Given the description of an element on the screen output the (x, y) to click on. 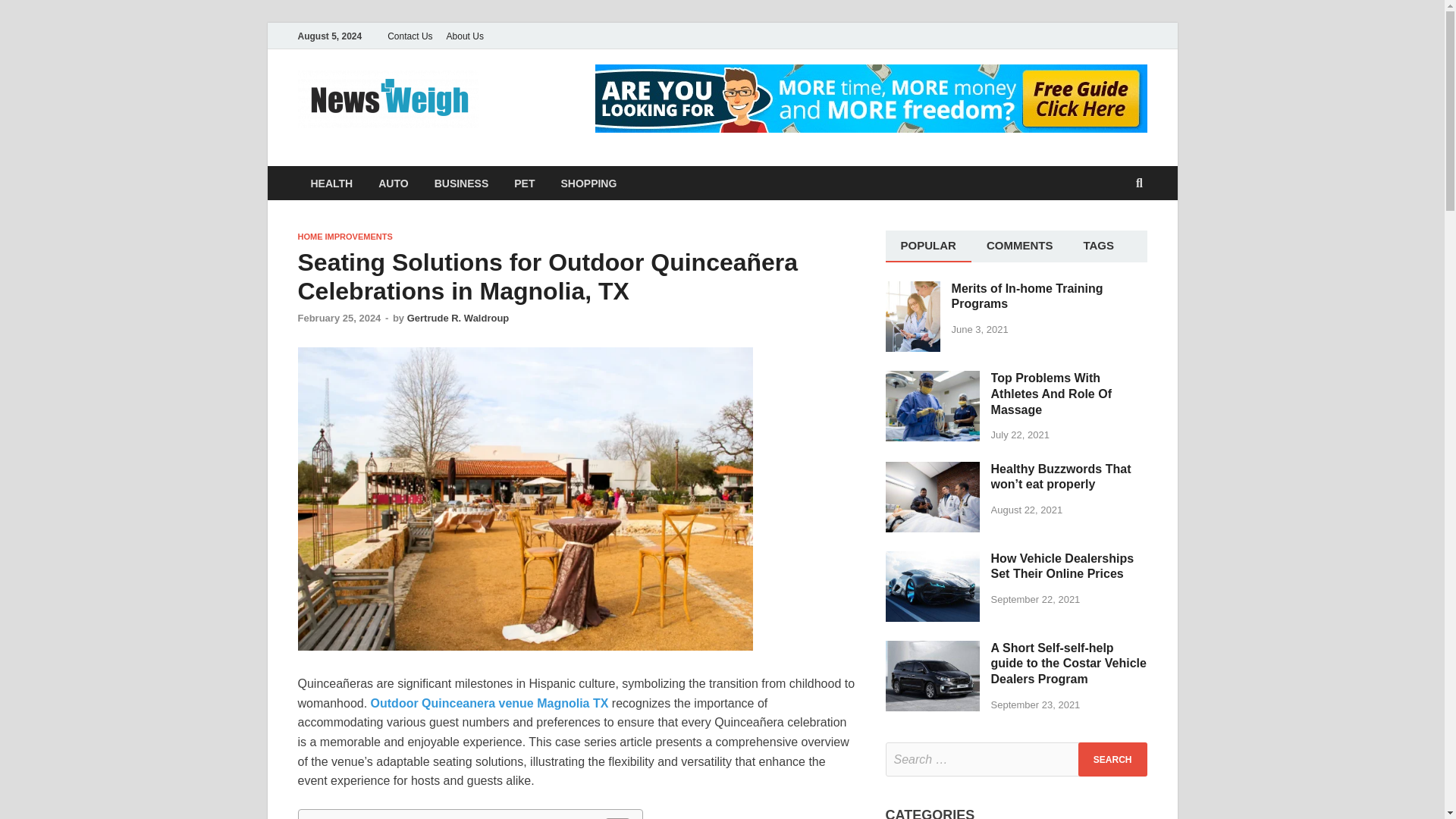
About Us (464, 35)
Outdoor Quinceanera venue Magnolia TX (489, 703)
SHOPPING (587, 182)
HOME IMPROVEMENTS (344, 235)
Gertrude R. Waldroup (458, 317)
Contact Us (409, 35)
Search (1112, 759)
AUTO (392, 182)
Search (1112, 759)
February 25, 2024 (338, 317)
PET (523, 182)
HEALTH (331, 182)
Merits of In-home Training Programs (912, 289)
News Weigh (569, 100)
BUSINESS (462, 182)
